Given the description of an element on the screen output the (x, y) to click on. 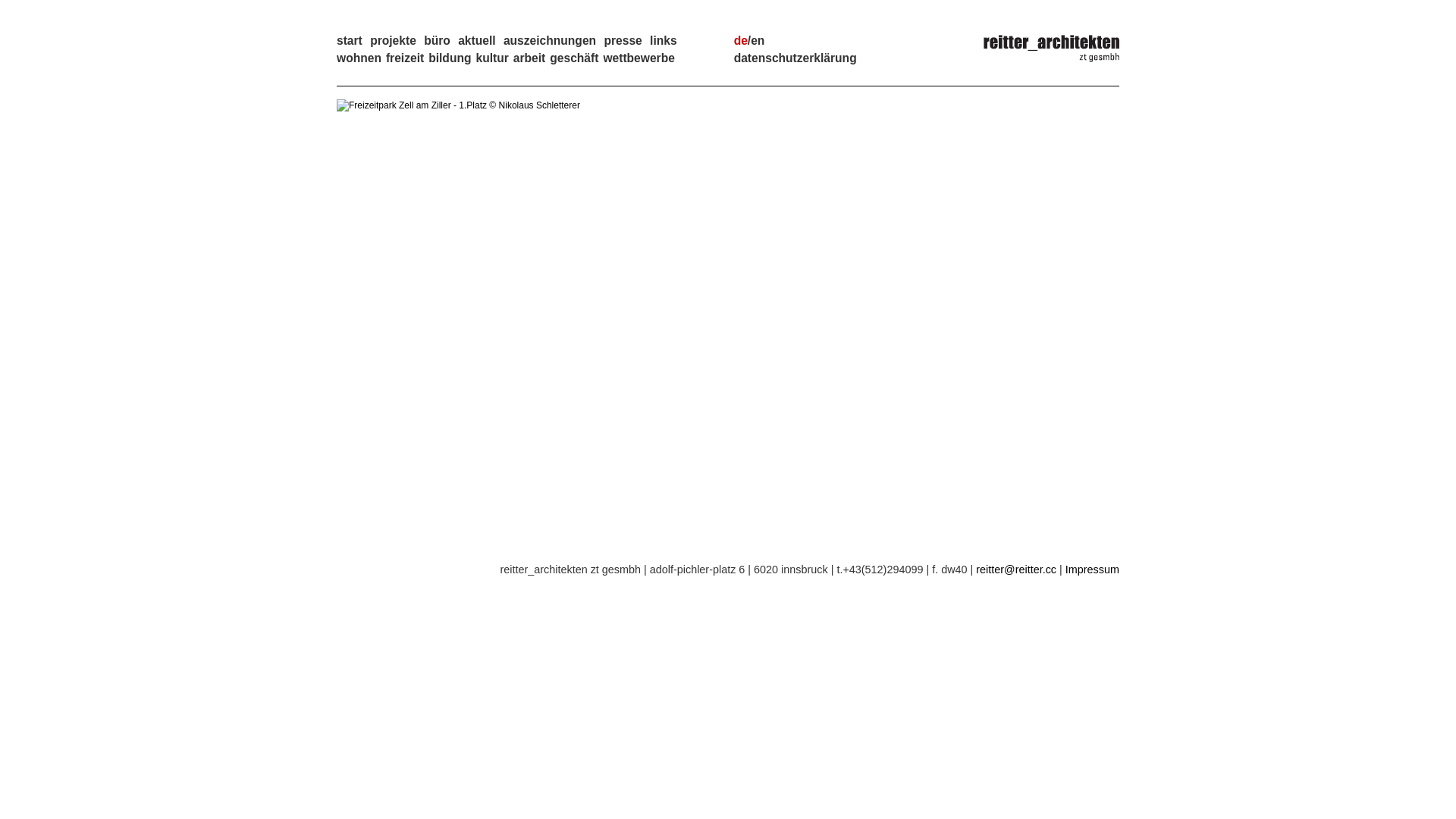
auszeichnungen Element type: text (549, 40)
links Element type: text (663, 40)
en Element type: text (757, 40)
start Element type: text (349, 40)
wettbewerbe Element type: text (638, 57)
Impressum Element type: text (1092, 569)
projekte Element type: text (393, 40)
bildung Element type: text (449, 57)
presse Element type: text (622, 40)
reitter@reitter.cc Element type: text (1015, 569)
kultur Element type: text (491, 57)
de Element type: text (740, 40)
aktuell Element type: text (476, 40)
arbeit Element type: text (529, 57)
wohnen Element type: text (358, 57)
freizeit Element type: text (404, 57)
